Given the description of an element on the screen output the (x, y) to click on. 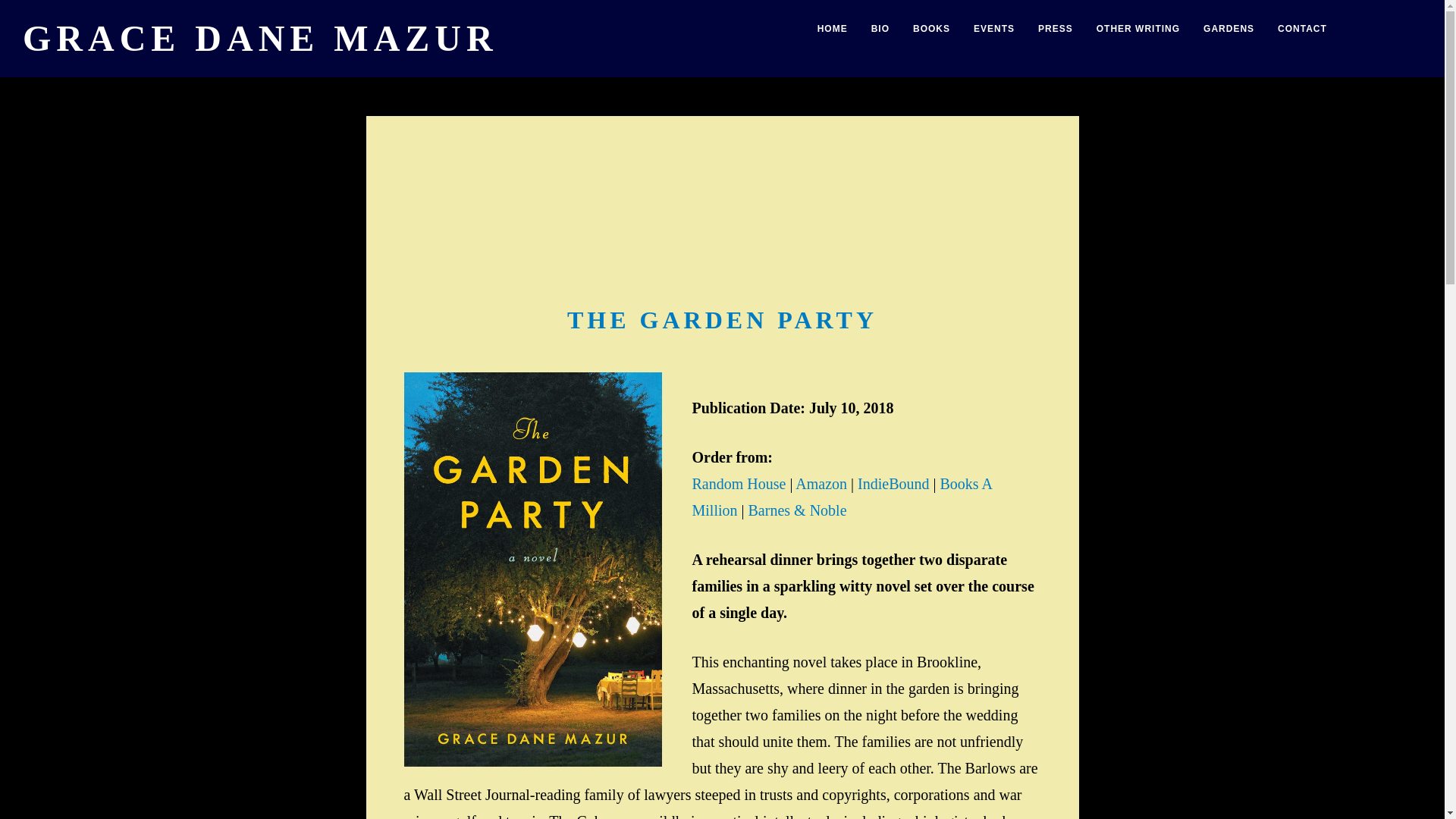
EVENTS (994, 28)
PRESS (1055, 28)
Random House (738, 483)
Amazon (820, 483)
BOOKS (930, 28)
OTHER WRITING (1137, 28)
HOME (832, 28)
GRACE DANE MAZUR (260, 38)
Books A Million (841, 496)
GARDENS (1228, 28)
IndieBound (892, 483)
CONTACT (1302, 28)
